Given the description of an element on the screen output the (x, y) to click on. 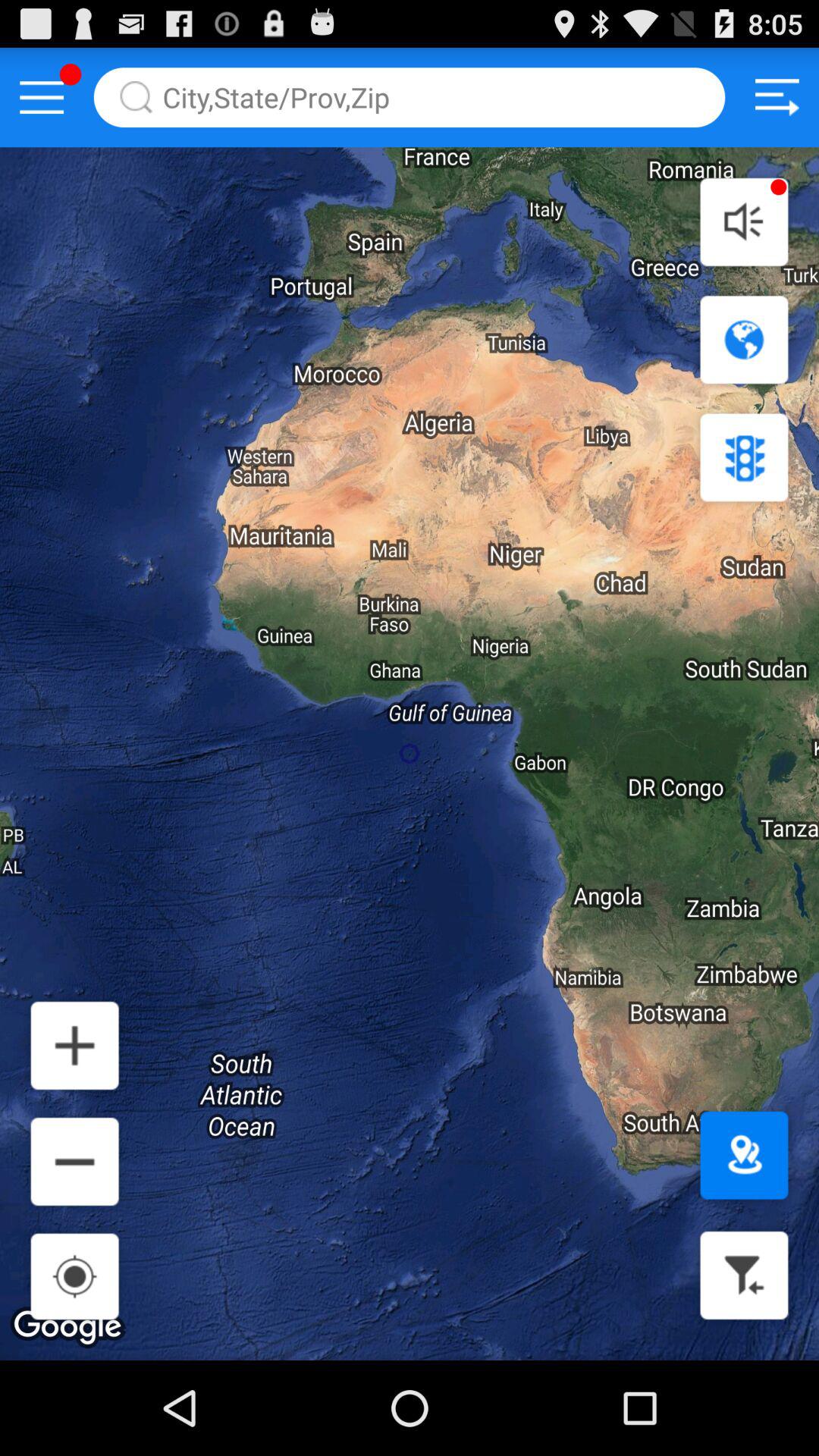
view google earth (744, 339)
